Given the description of an element on the screen output the (x, y) to click on. 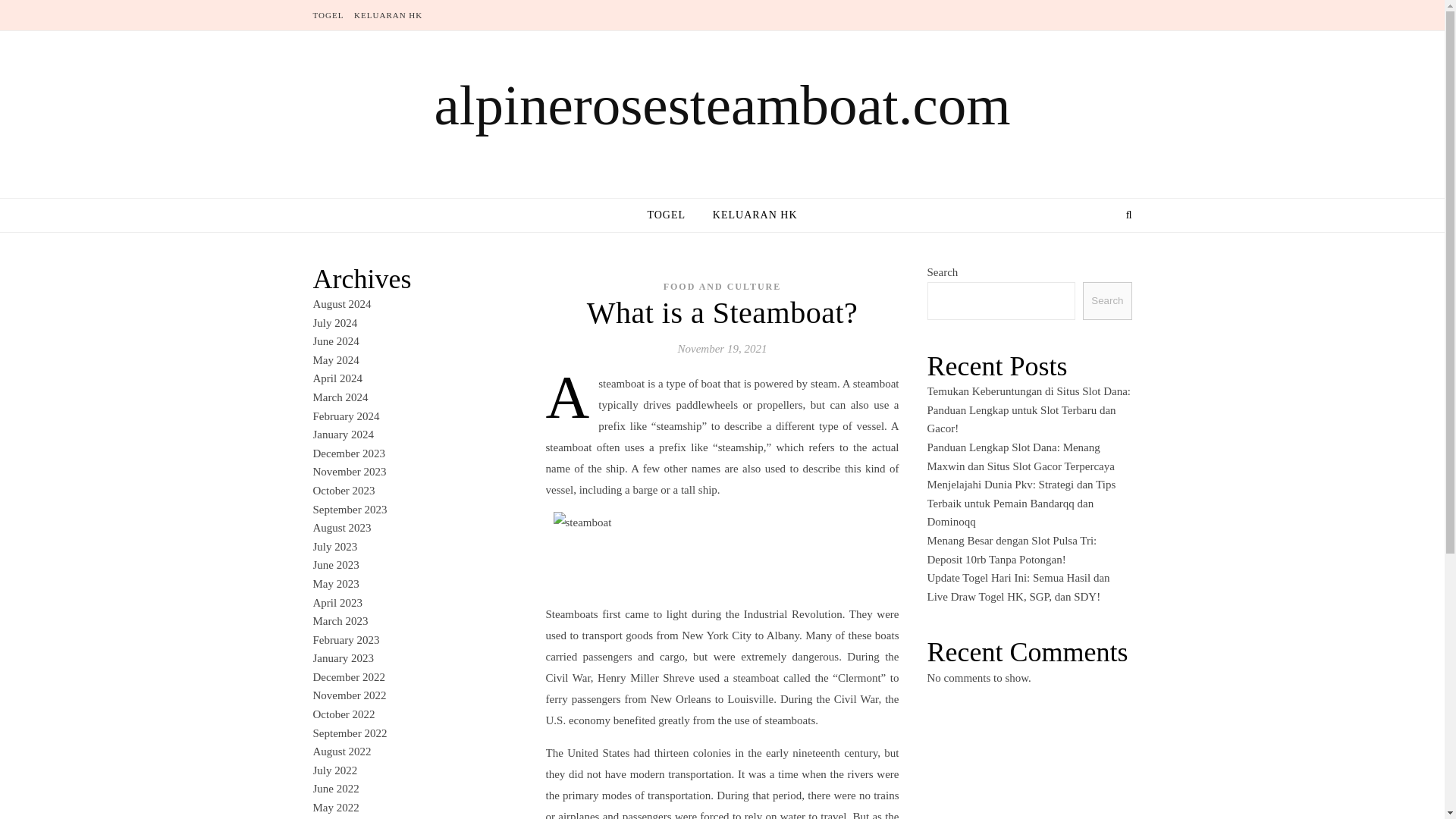
July 2024 (334, 322)
September 2022 (350, 733)
TOGEL (671, 215)
TOGEL (330, 15)
February 2024 (345, 416)
December 2023 (348, 453)
April 2023 (337, 602)
October 2023 (343, 490)
May 2024 (335, 359)
November 2022 (349, 695)
